Given the description of an element on the screen output the (x, y) to click on. 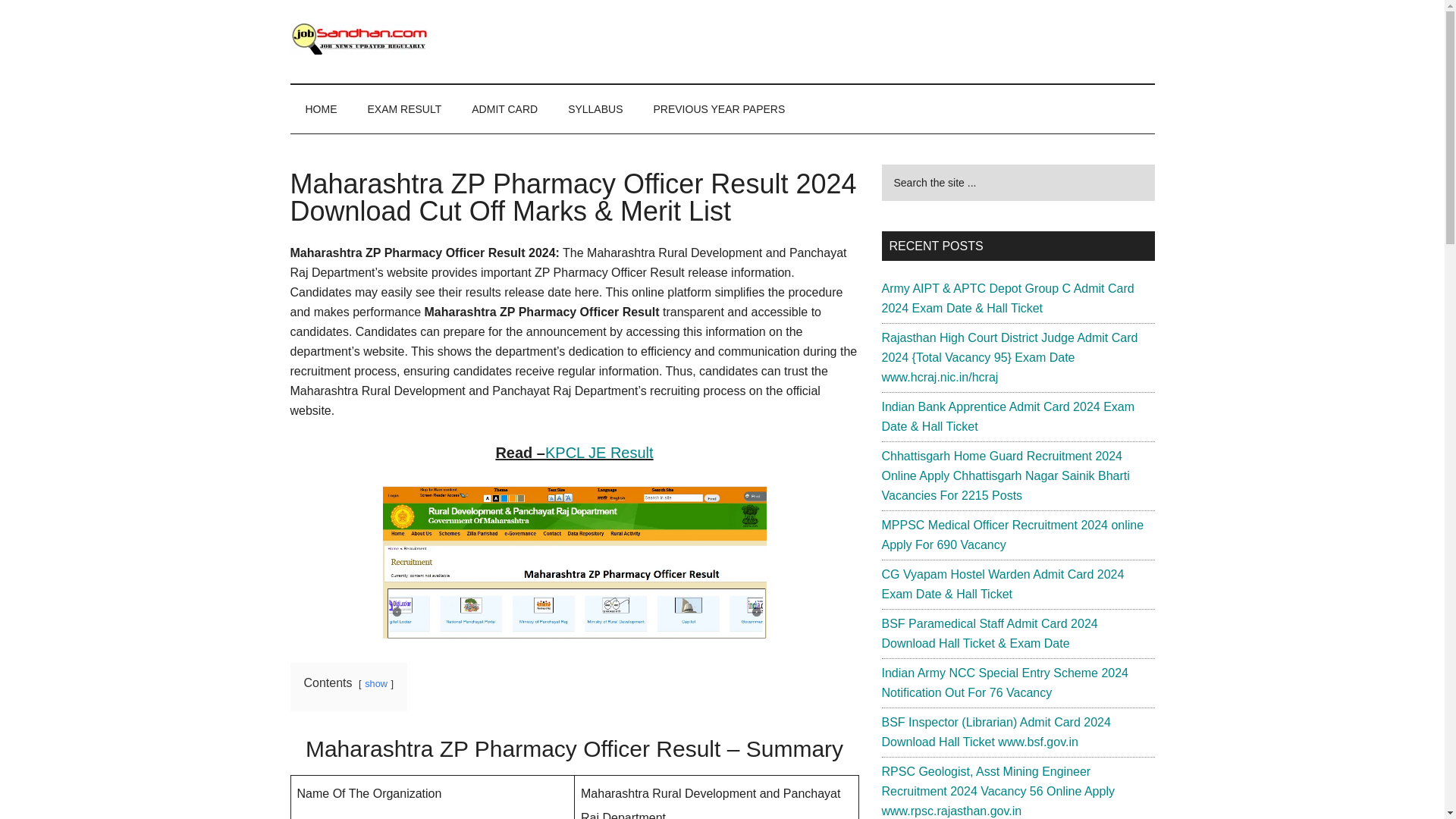
EXAM RESULT (404, 109)
SYLLABUS (595, 109)
PREVIOUS YEAR PAPERS (719, 109)
KPCL JE Result (598, 452)
ADMIT CARD (505, 109)
show (376, 683)
HOME (320, 109)
